Given the description of an element on the screen output the (x, y) to click on. 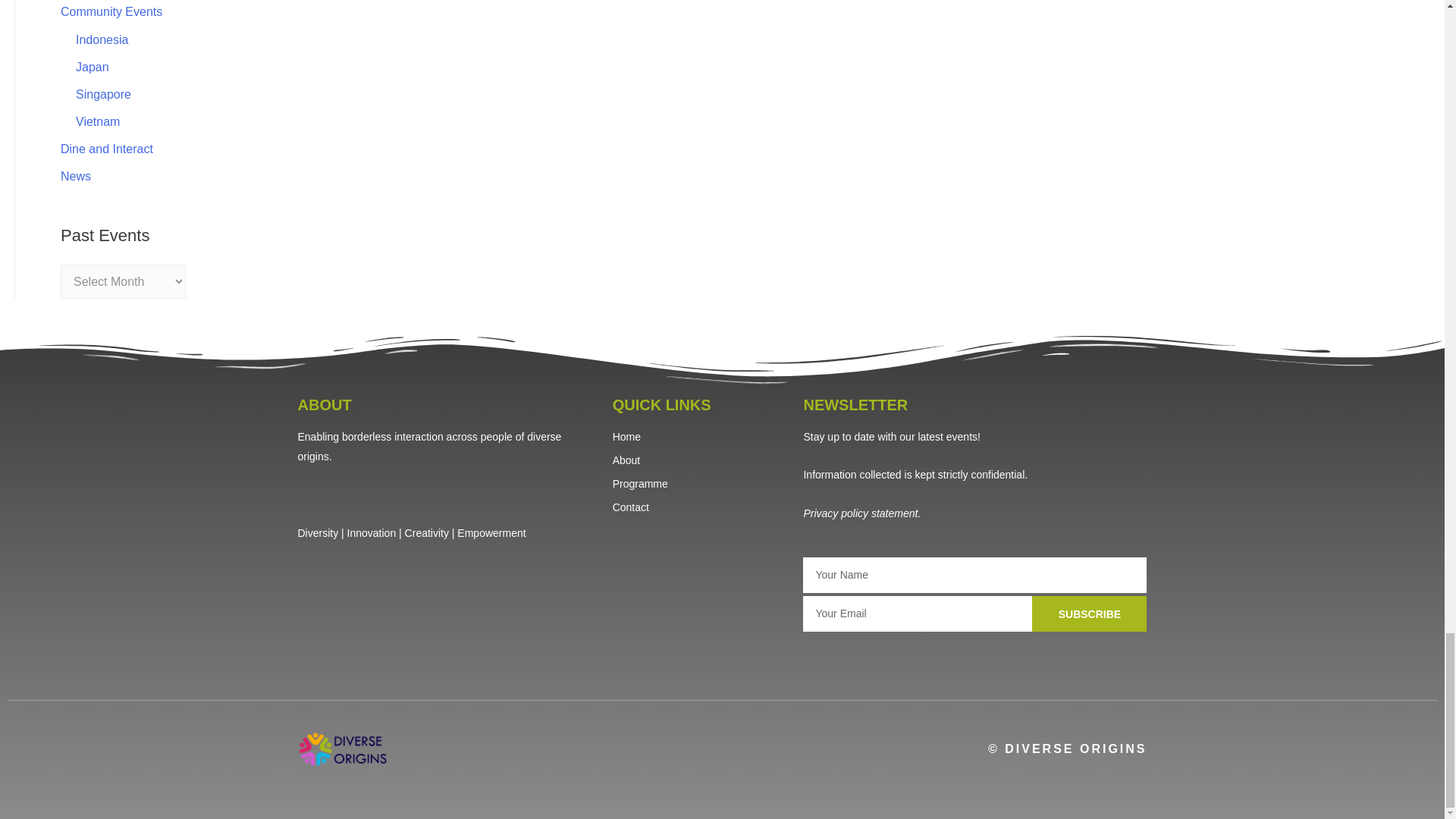
Programme (700, 484)
Vietnam (97, 121)
Japan (92, 66)
About (700, 460)
Dine and Interact (106, 148)
SUBSCRIBE (1089, 613)
Home (700, 437)
News (75, 175)
Privacy policy statement. (861, 512)
Community Events (111, 11)
Contact (700, 507)
Singapore (103, 93)
Indonesia (101, 39)
